Given the description of an element on the screen output the (x, y) to click on. 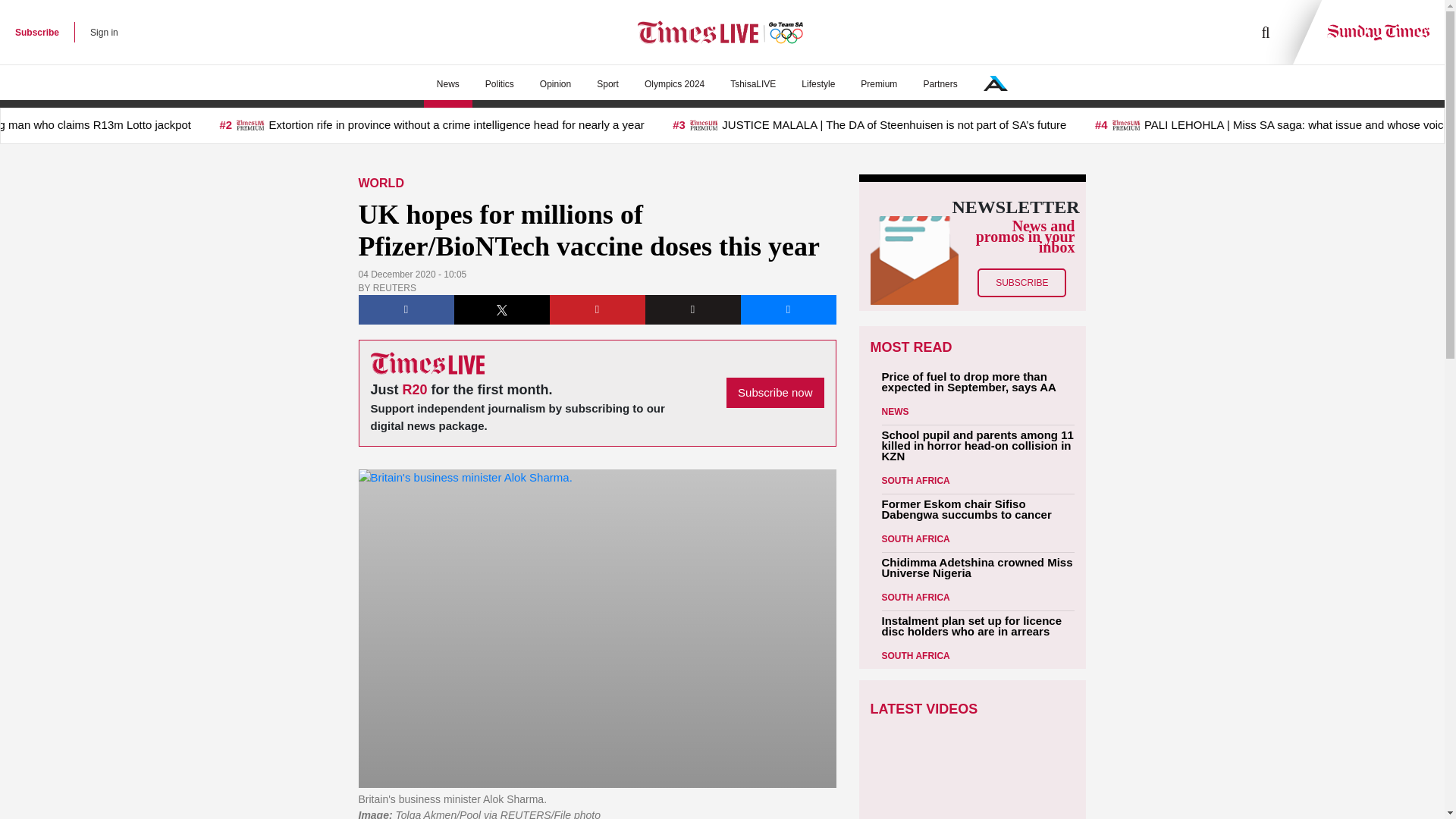
Partners (939, 84)
Opinion (555, 84)
Olympics 2024 (674, 84)
News (447, 84)
Sport (607, 84)
Premium (878, 84)
Subscribe (36, 32)
Politics (499, 84)
Our Network (995, 83)
Lifestyle (818, 84)
